Given the description of an element on the screen output the (x, y) to click on. 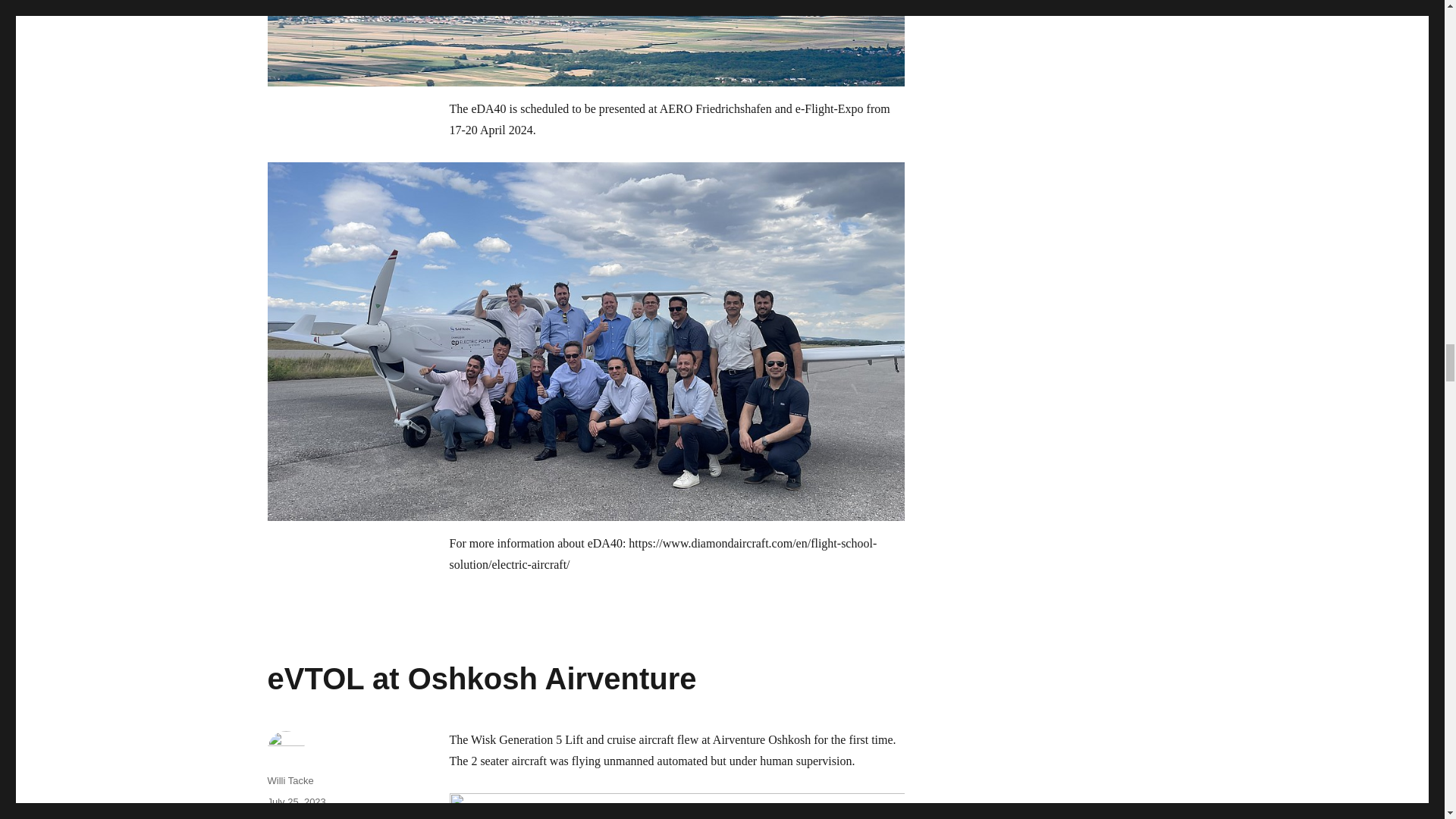
eVTOL at Oshkosh Airventure (480, 678)
July 25, 2023 (295, 801)
Willi Tacke (289, 780)
Uncategorized (298, 818)
